Given the description of an element on the screen output the (x, y) to click on. 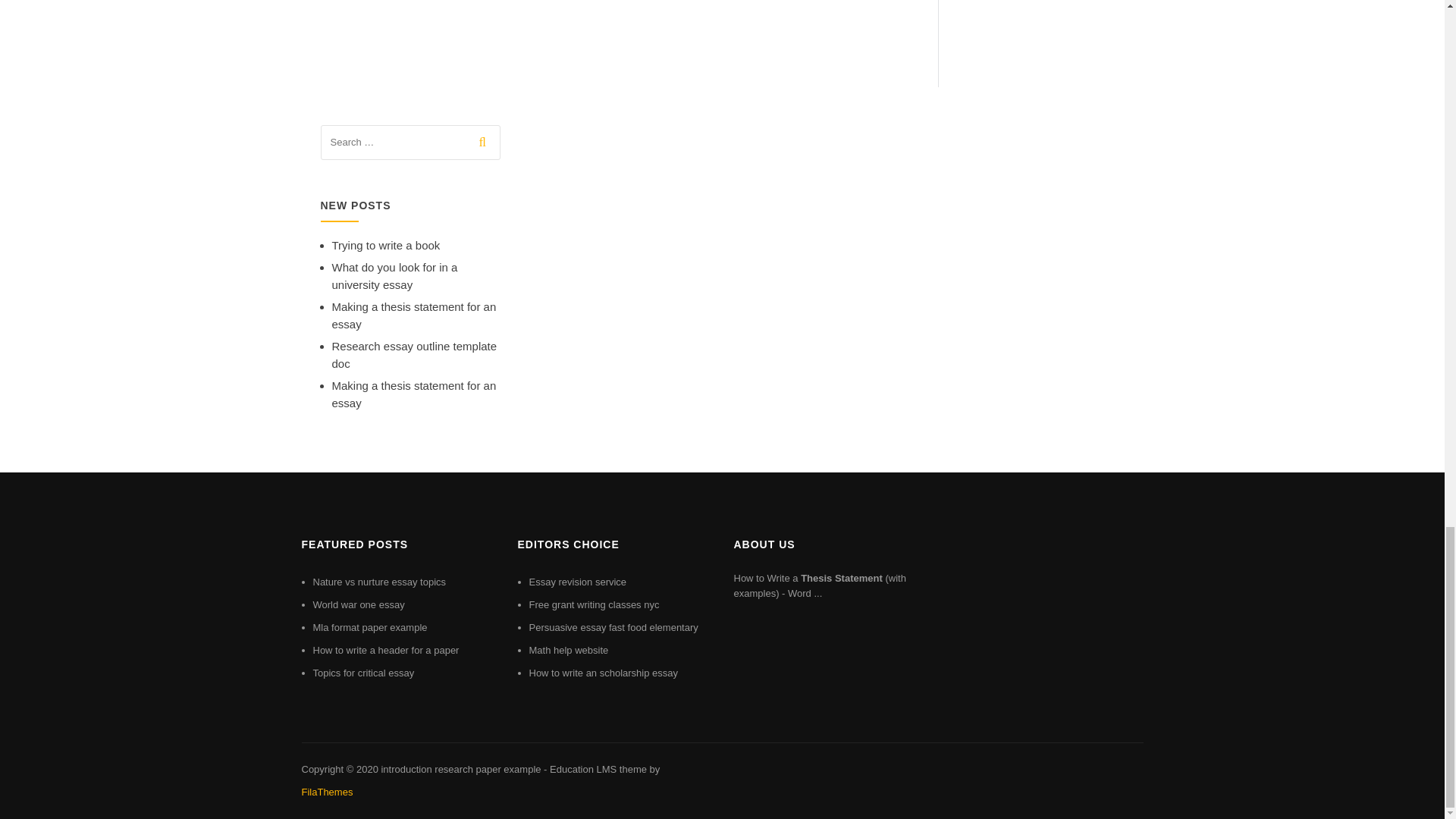
Math help website (568, 650)
Making a thesis statement for an essay (413, 394)
Topics for critical essay (363, 672)
Research essay outline template doc (414, 354)
Persuasive essay fast food elementary (613, 627)
Making a thesis statement for an essay (413, 315)
Trying to write a book (386, 245)
World war one essay (358, 604)
Nature vs nurture essay topics (379, 582)
What do you look for in a university essay (394, 276)
